Given the description of an element on the screen output the (x, y) to click on. 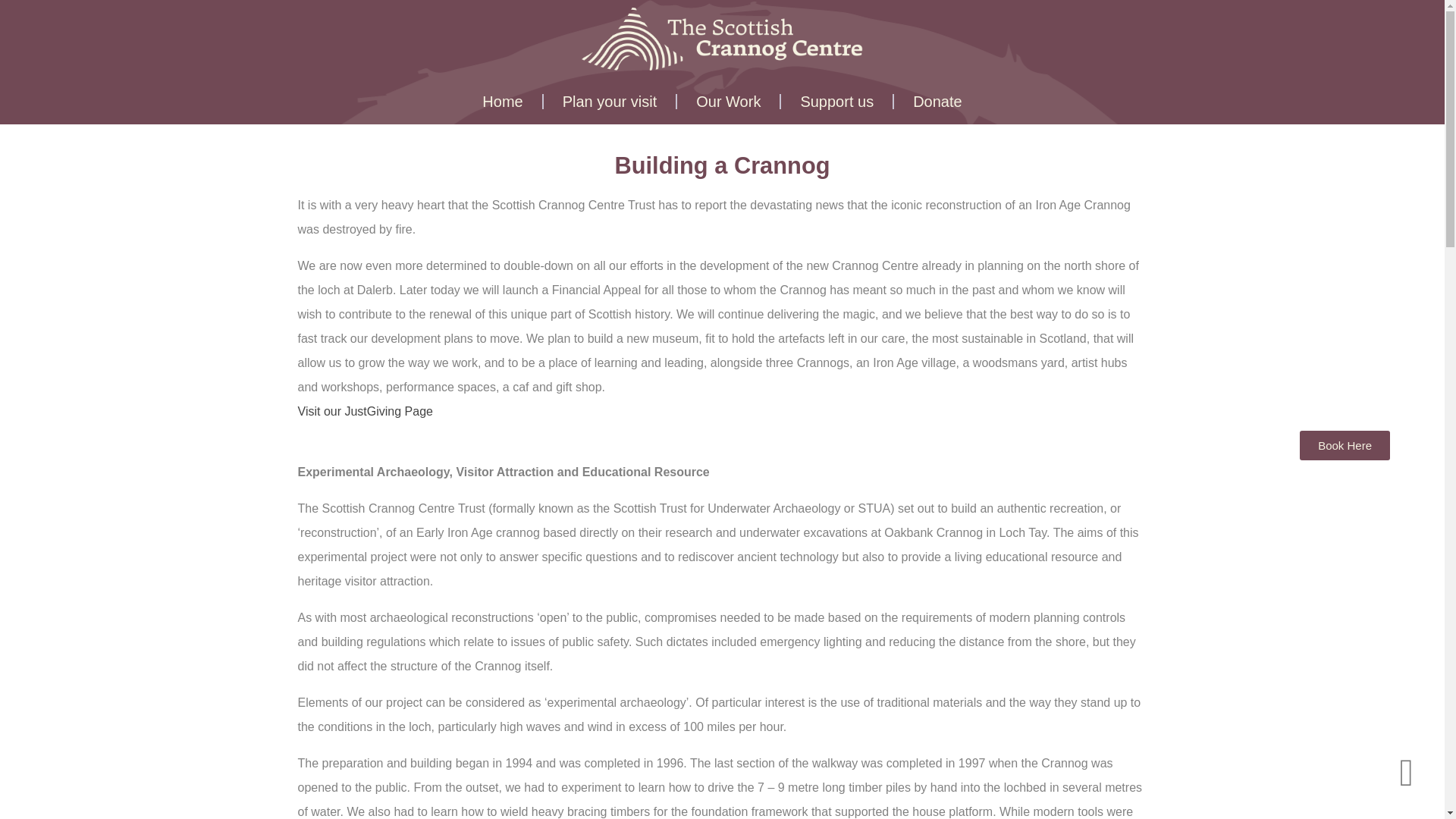
Home (502, 101)
Plan your visit (610, 101)
Support us (836, 101)
Book Here (1345, 445)
Visit our JustGiving Page (364, 410)
Donate (937, 101)
Our Work (728, 101)
